Given the description of an element on the screen output the (x, y) to click on. 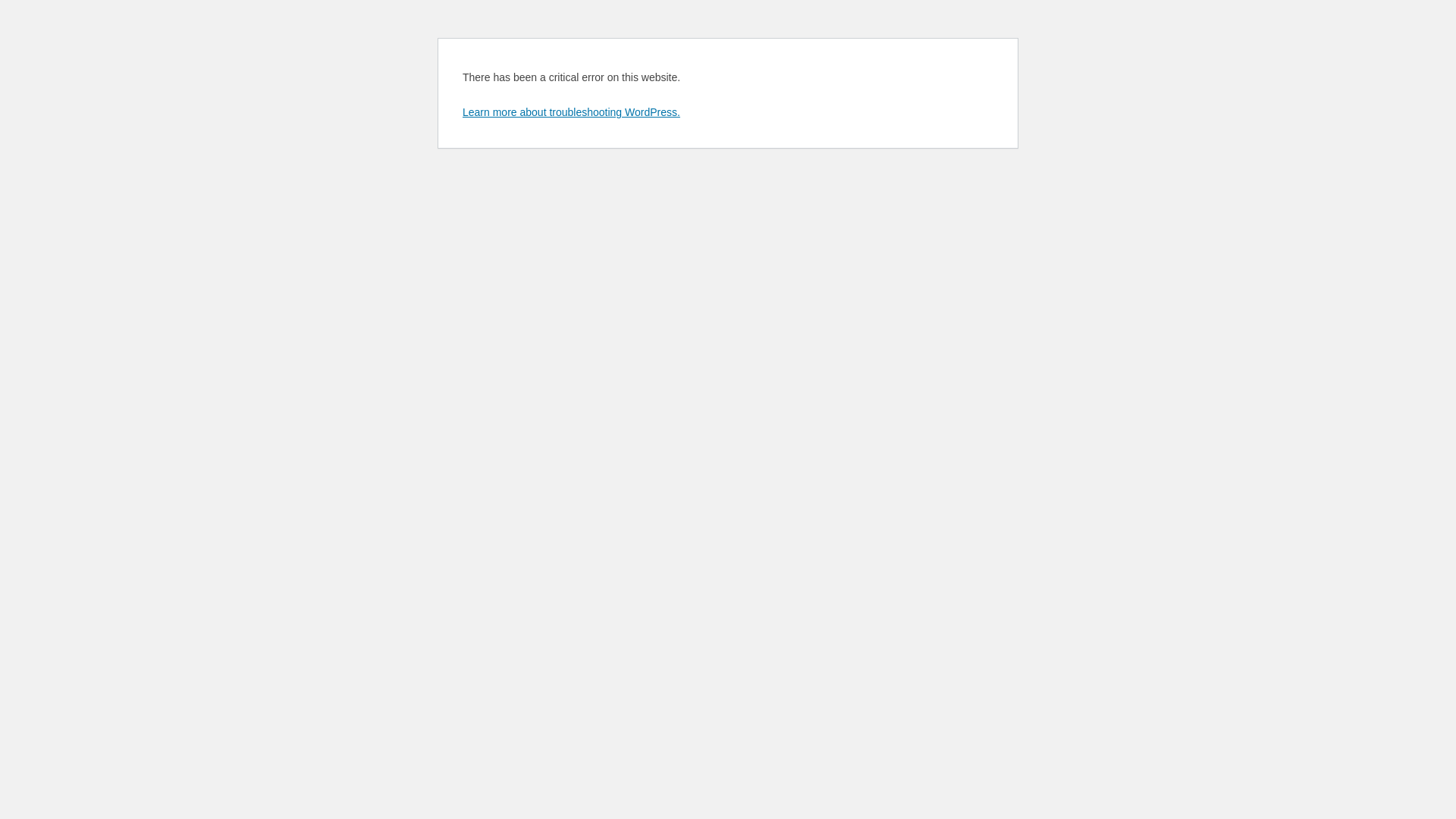
Learn more about troubleshooting WordPress. Element type: text (571, 112)
